Given the description of an element on the screen output the (x, y) to click on. 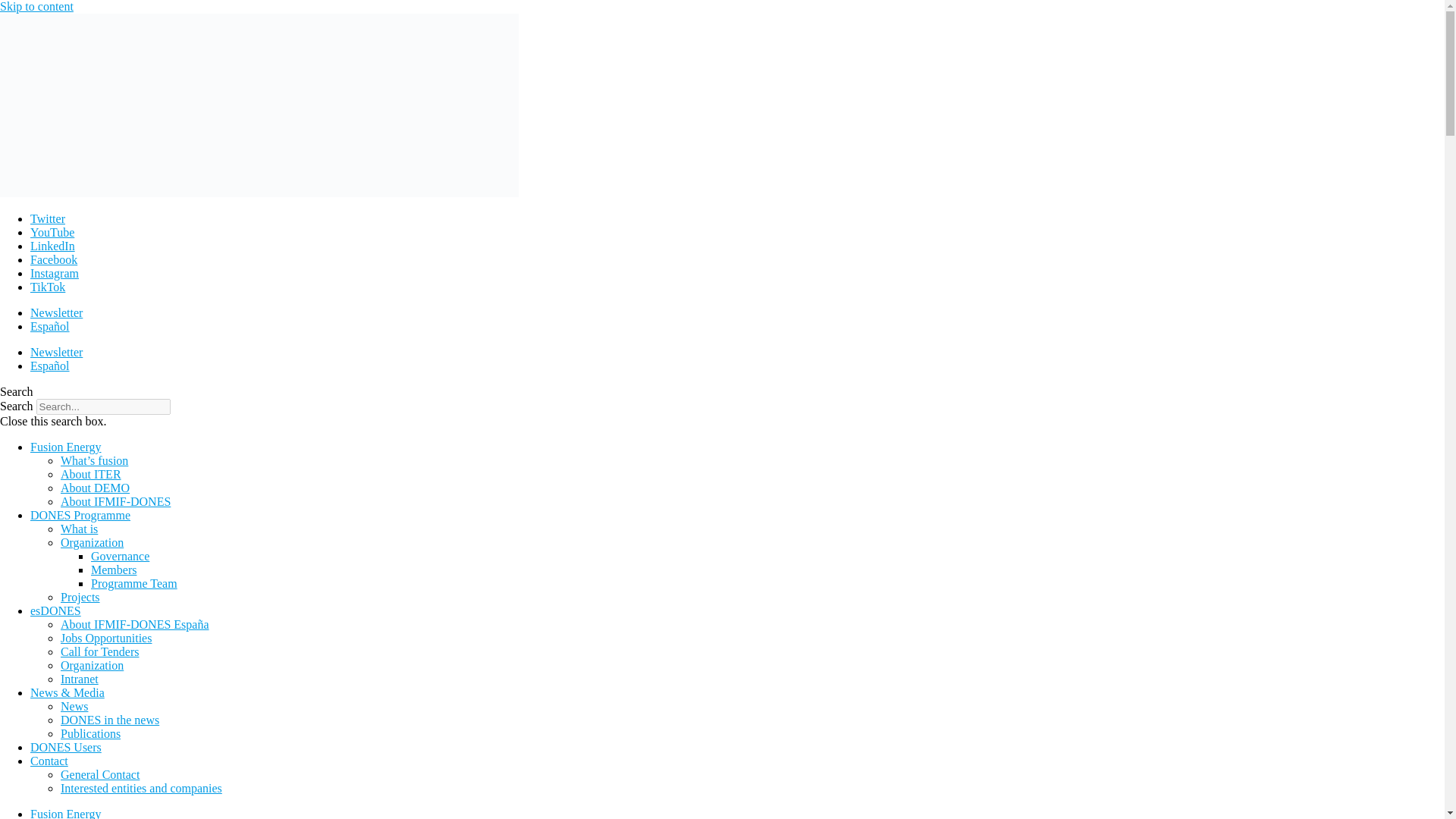
LinkedIn (52, 245)
About IFMIF-DONES (115, 501)
Skip to content (37, 6)
Publications (90, 733)
Fusion Energy (65, 813)
Call for Tenders (99, 651)
Governance (119, 555)
About ITER (90, 473)
Skip to content (37, 6)
YouTube (52, 232)
Contact (49, 760)
Twitter (47, 218)
esDONES (55, 610)
General Contact (100, 774)
Organization (92, 665)
